Given the description of an element on the screen output the (x, y) to click on. 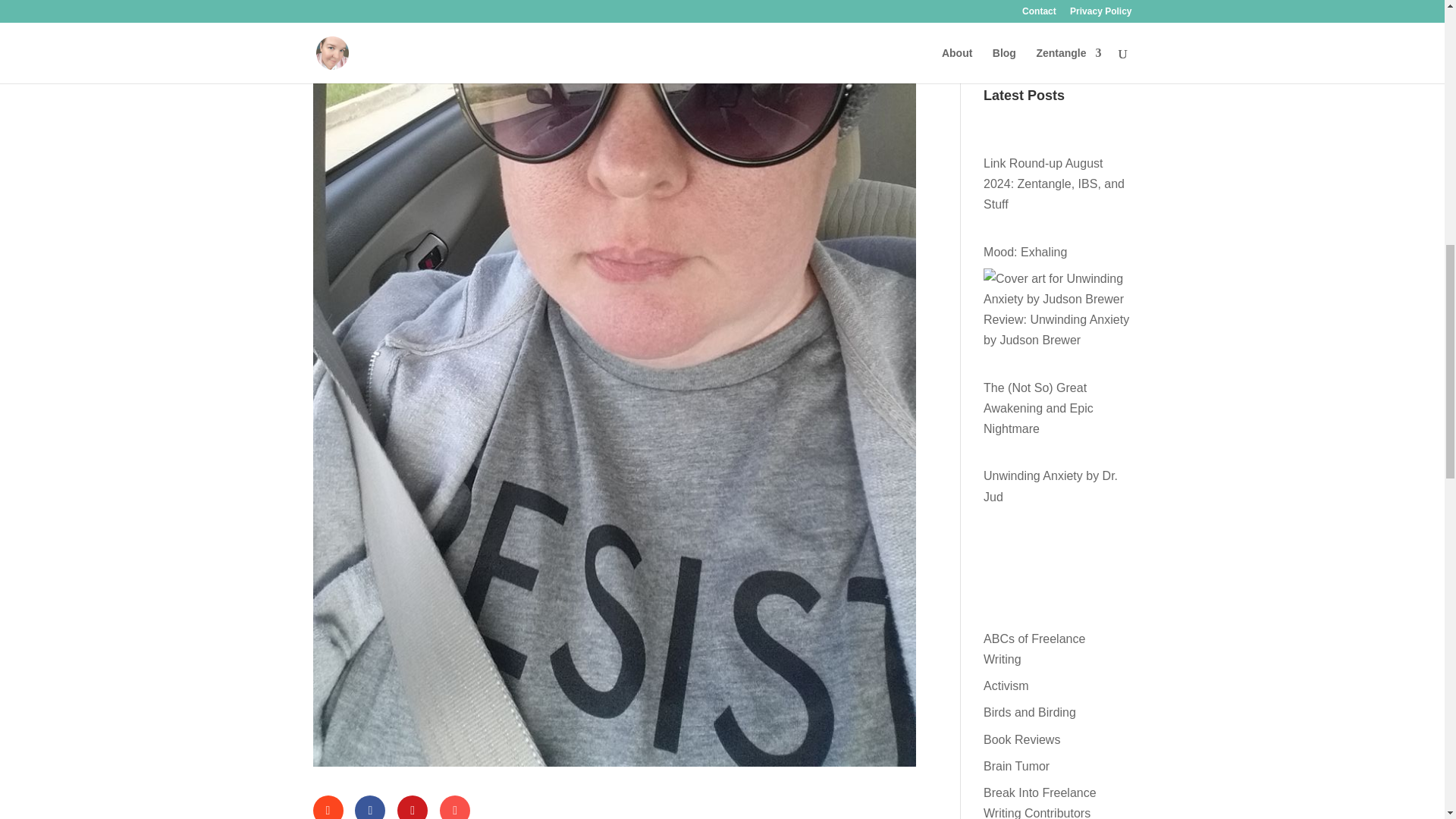
Break Into Freelance Writing Contributors (1040, 802)
Activism (1006, 685)
Brain Tumor (1016, 766)
ABCs of Freelance Writing (1034, 648)
Review: Unwinding Anxiety by Judson Brewer (1056, 329)
Unwinding Anxiety by Dr. Jud (1051, 485)
Mood: Exhaling (1025, 251)
Book Reviews (1021, 739)
Birds and Birding (1029, 712)
Link Round-up August 2024: Zentangle, IBS, and Stuff (1054, 183)
